Given the description of an element on the screen output the (x, y) to click on. 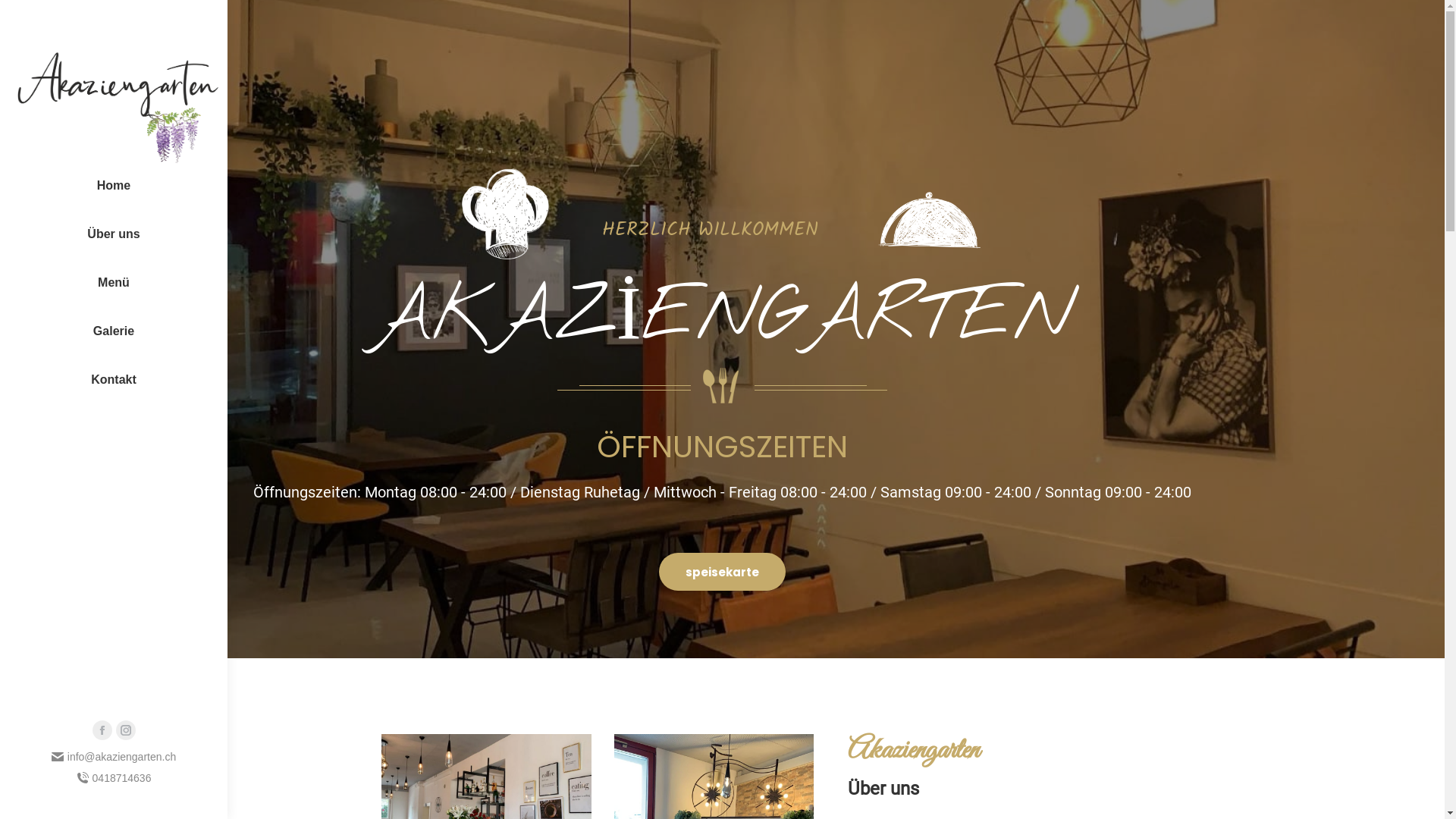
Facebook page opens in new window Element type: text (102, 730)
Home Element type: text (113, 185)
Galerie Element type: text (113, 331)
Instagram page opens in new window Element type: text (124, 730)
Kontakt Element type: text (113, 379)
speisekarte Element type: text (721, 571)
